Given the description of an element on the screen output the (x, y) to click on. 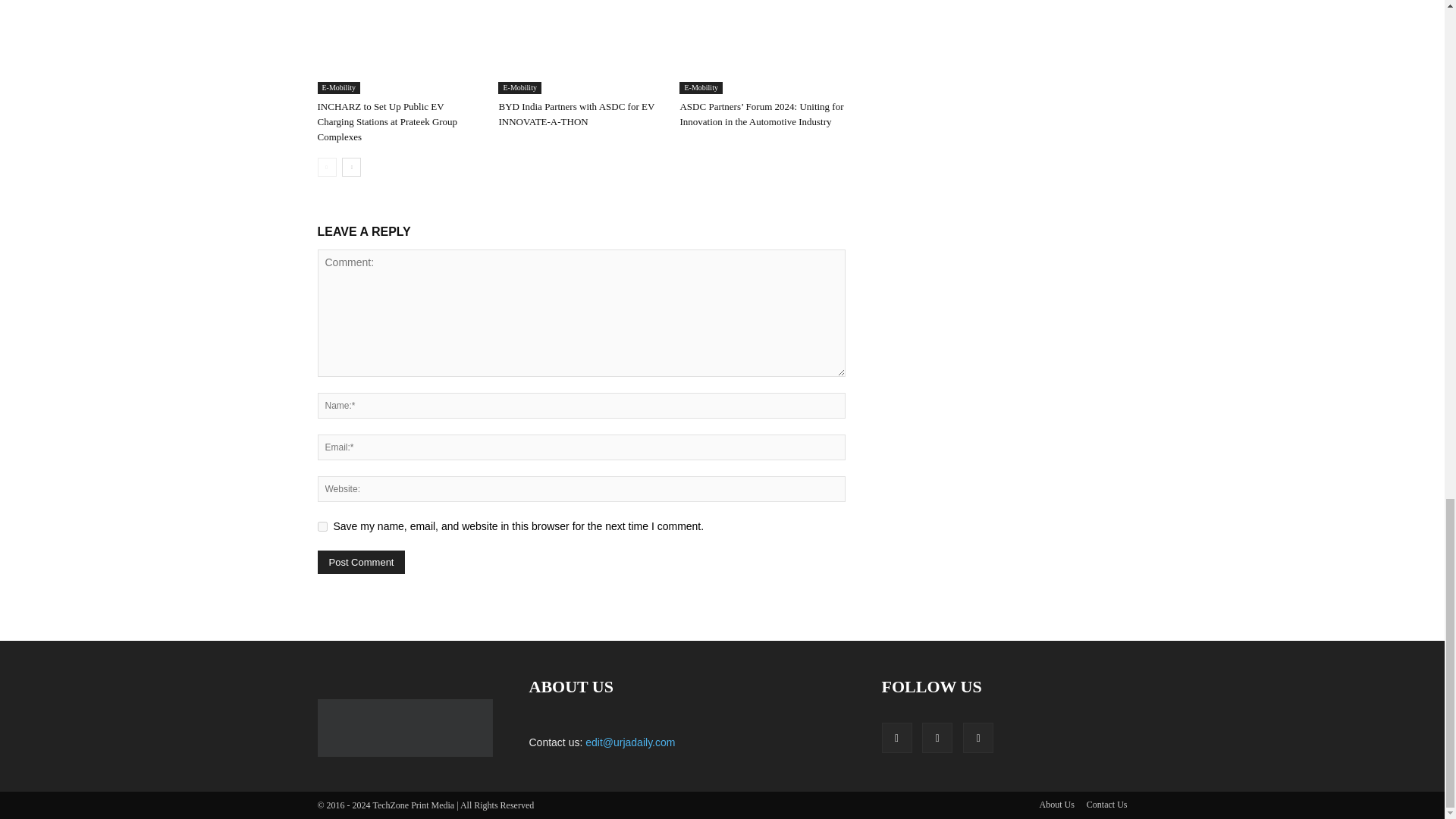
Post Comment (360, 562)
yes (321, 526)
